Given the description of an element on the screen output the (x, y) to click on. 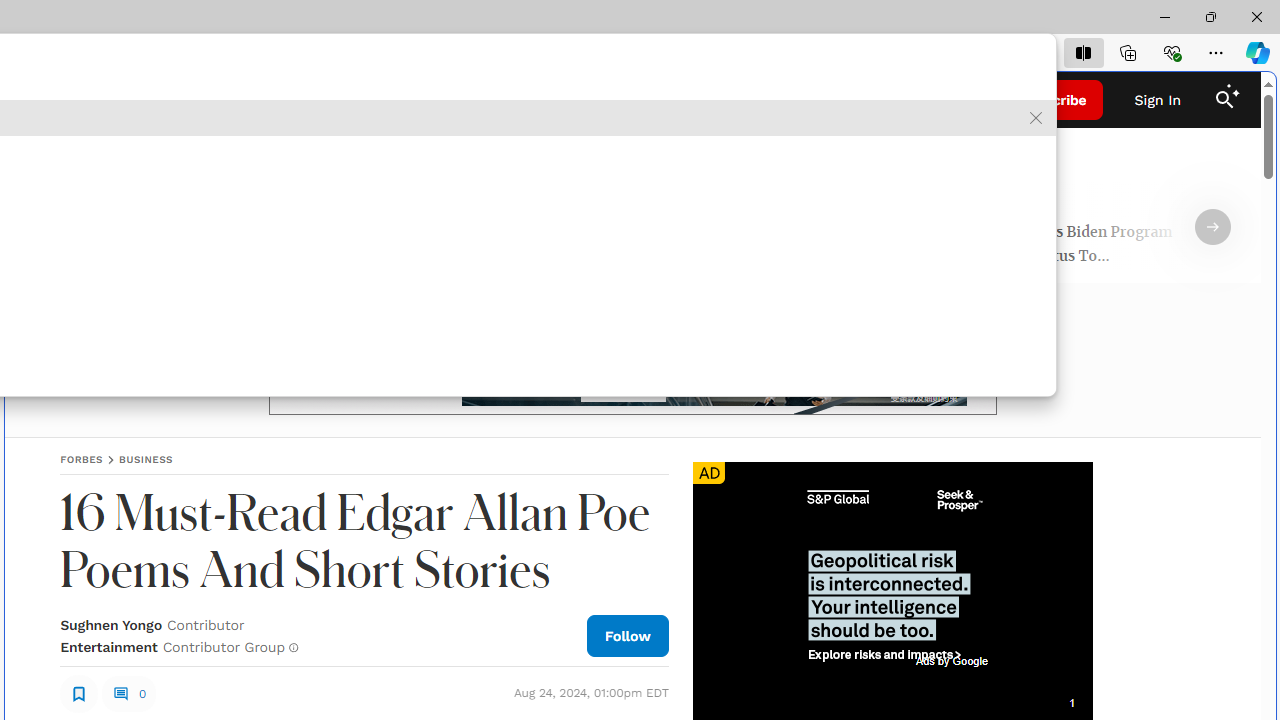
Class: fs-icon fs-icon--info (293, 647)
Class: sElHJWe4 (79, 692)
Arrow Right (1213, 227)
BUSINESS (145, 459)
0 (128, 693)
Follow Author (627, 635)
Sign In (1157, 100)
Sughnen Yongo (111, 623)
Entertainment (108, 646)
Forbes Logo (632, 99)
